Given the description of an element on the screen output the (x, y) to click on. 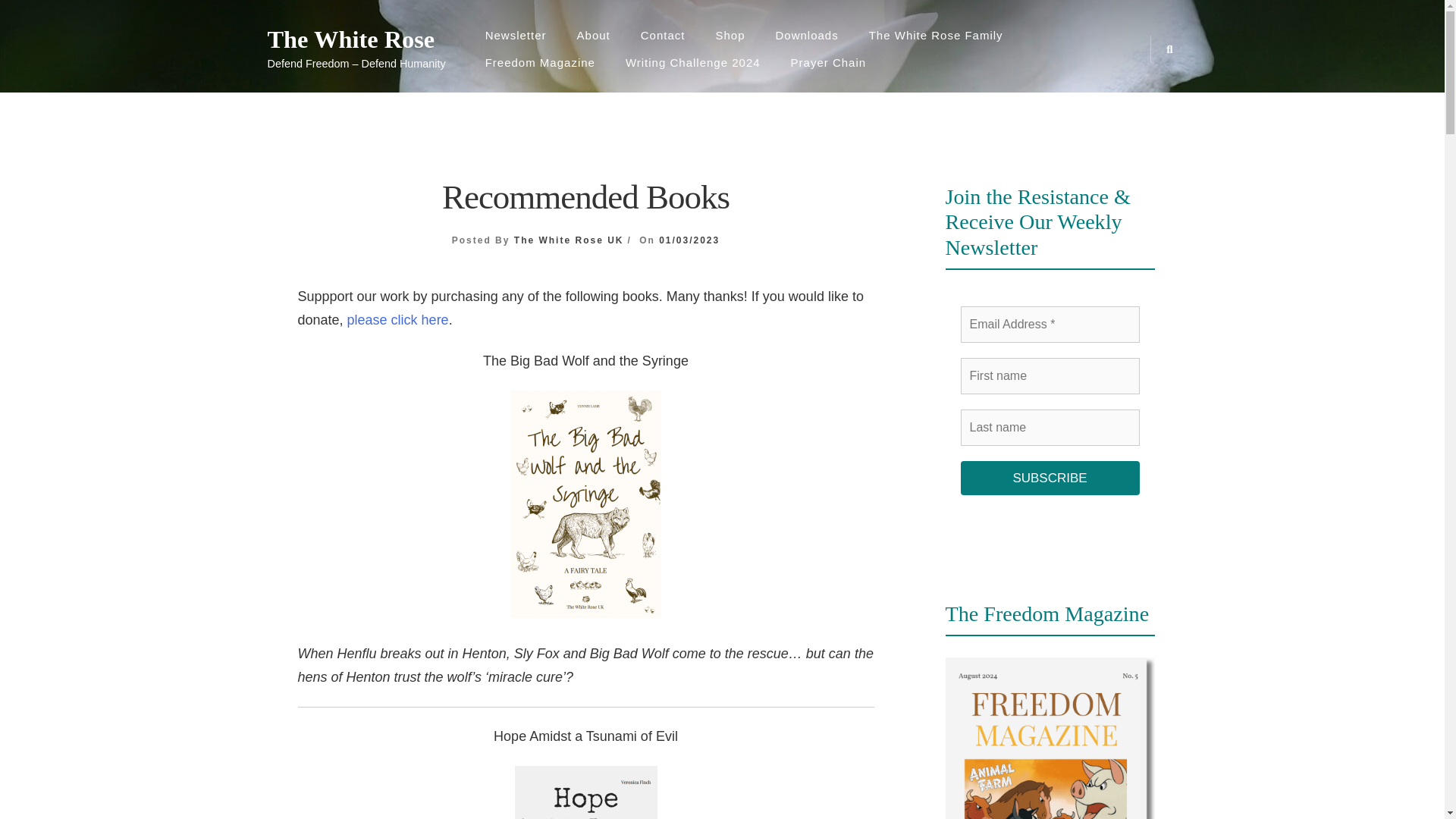
Writing Challenge 2024 (693, 62)
Freedom Magazine (540, 62)
Subscribe (1048, 478)
Search (752, 429)
Contact (663, 35)
Shop (730, 35)
Email Address (1048, 324)
The Freedom Magazine (1049, 738)
The White Rose (355, 39)
Downloads (806, 35)
